Given the description of an element on the screen output the (x, y) to click on. 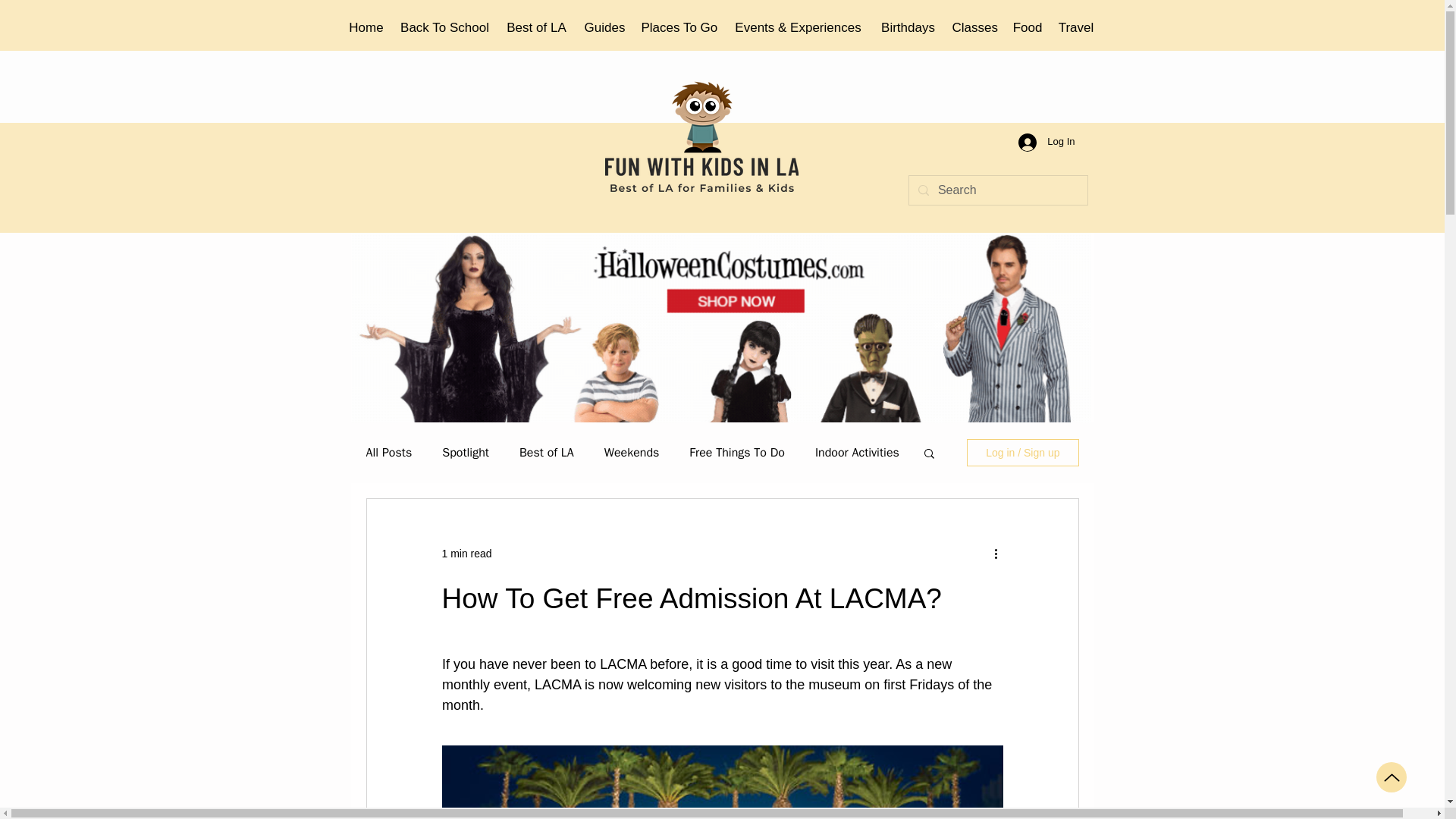
Best of LA (536, 27)
1 min read (466, 553)
Back To School (445, 27)
Home (365, 27)
